Given the description of an element on the screen output the (x, y) to click on. 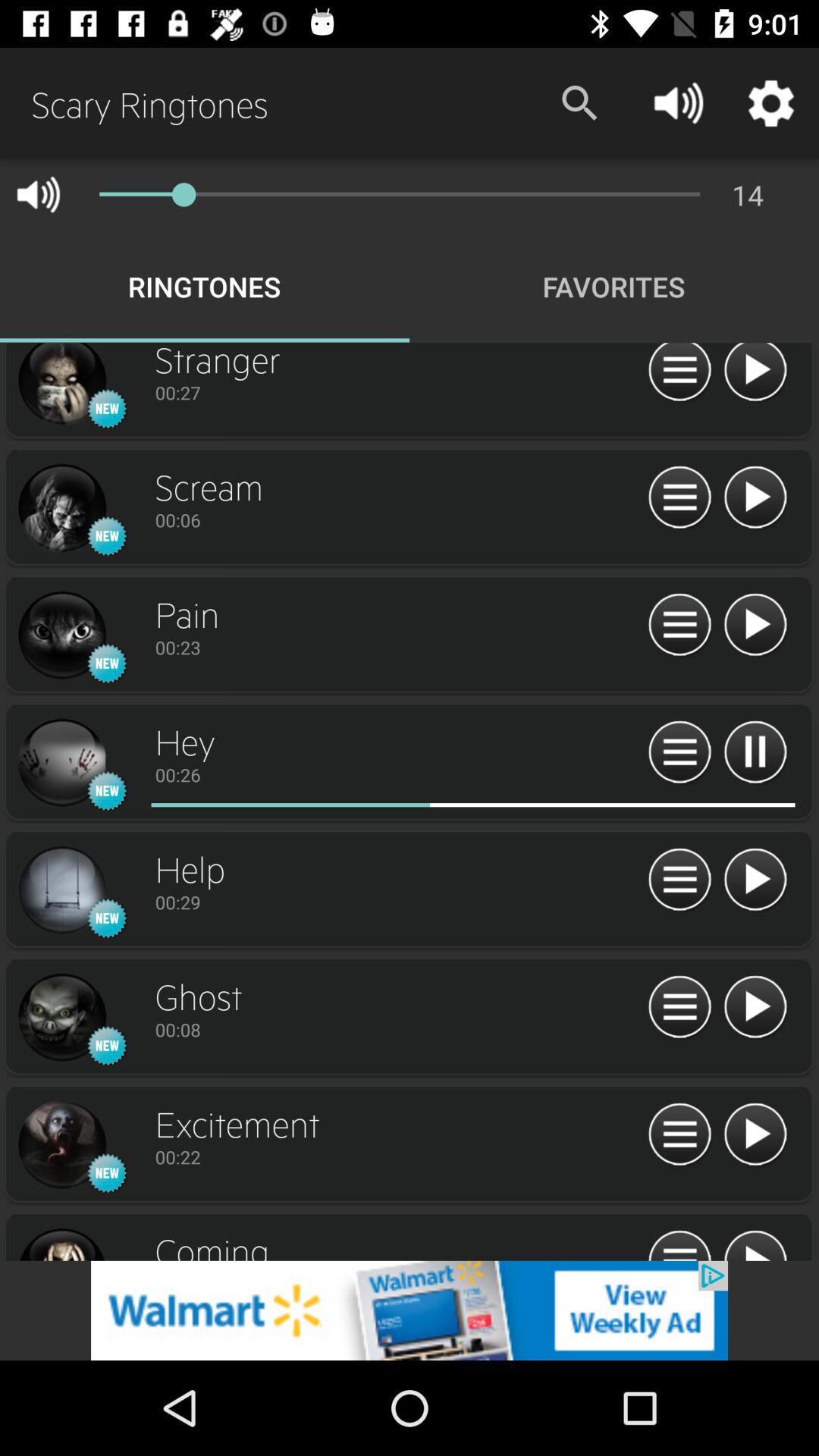
view icon details (61, 385)
